Given the description of an element on the screen output the (x, y) to click on. 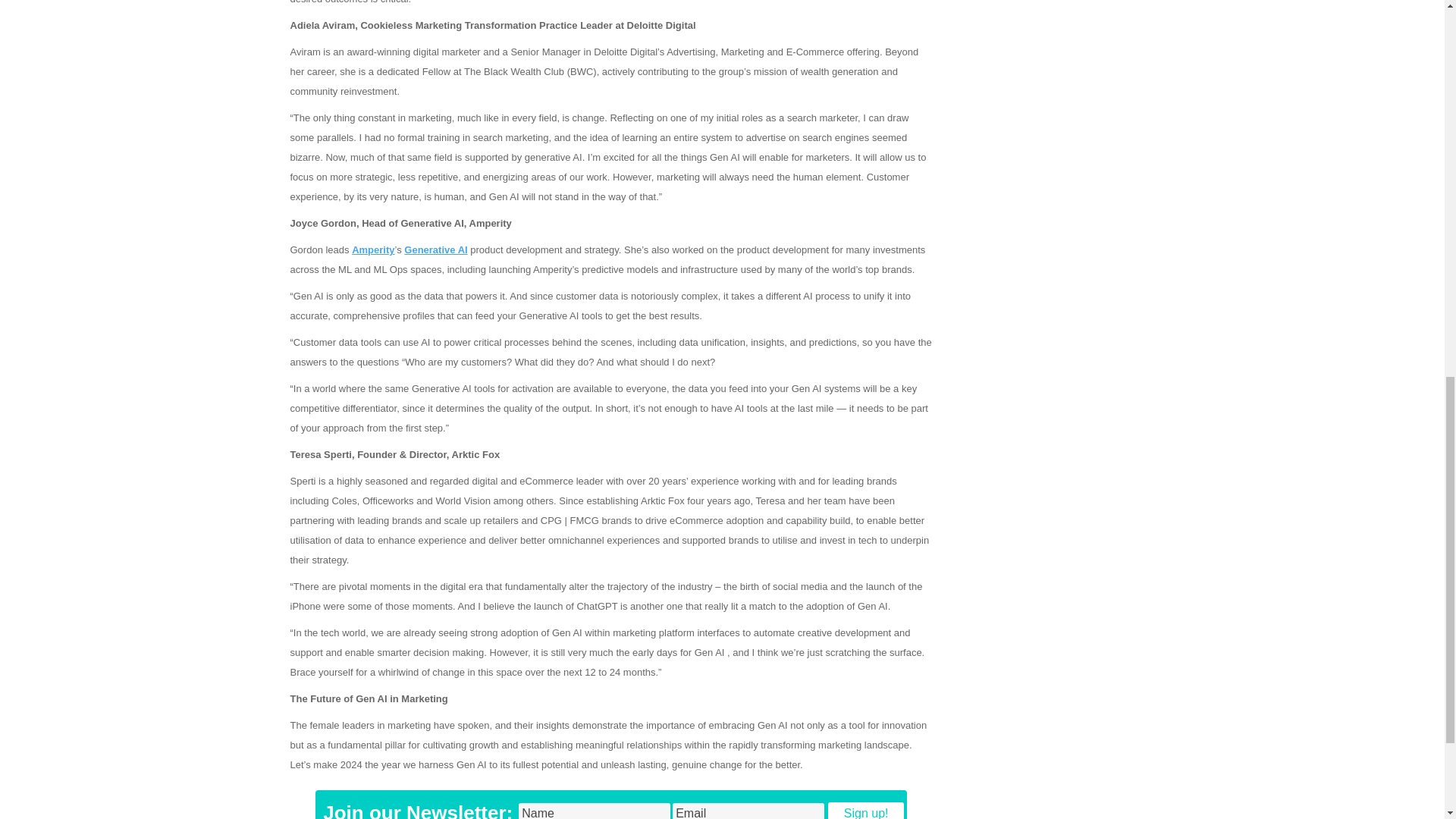
Amperity (373, 249)
Sign up! (866, 810)
Generative AI (435, 249)
Sign up! (866, 810)
